Given the description of an element on the screen output the (x, y) to click on. 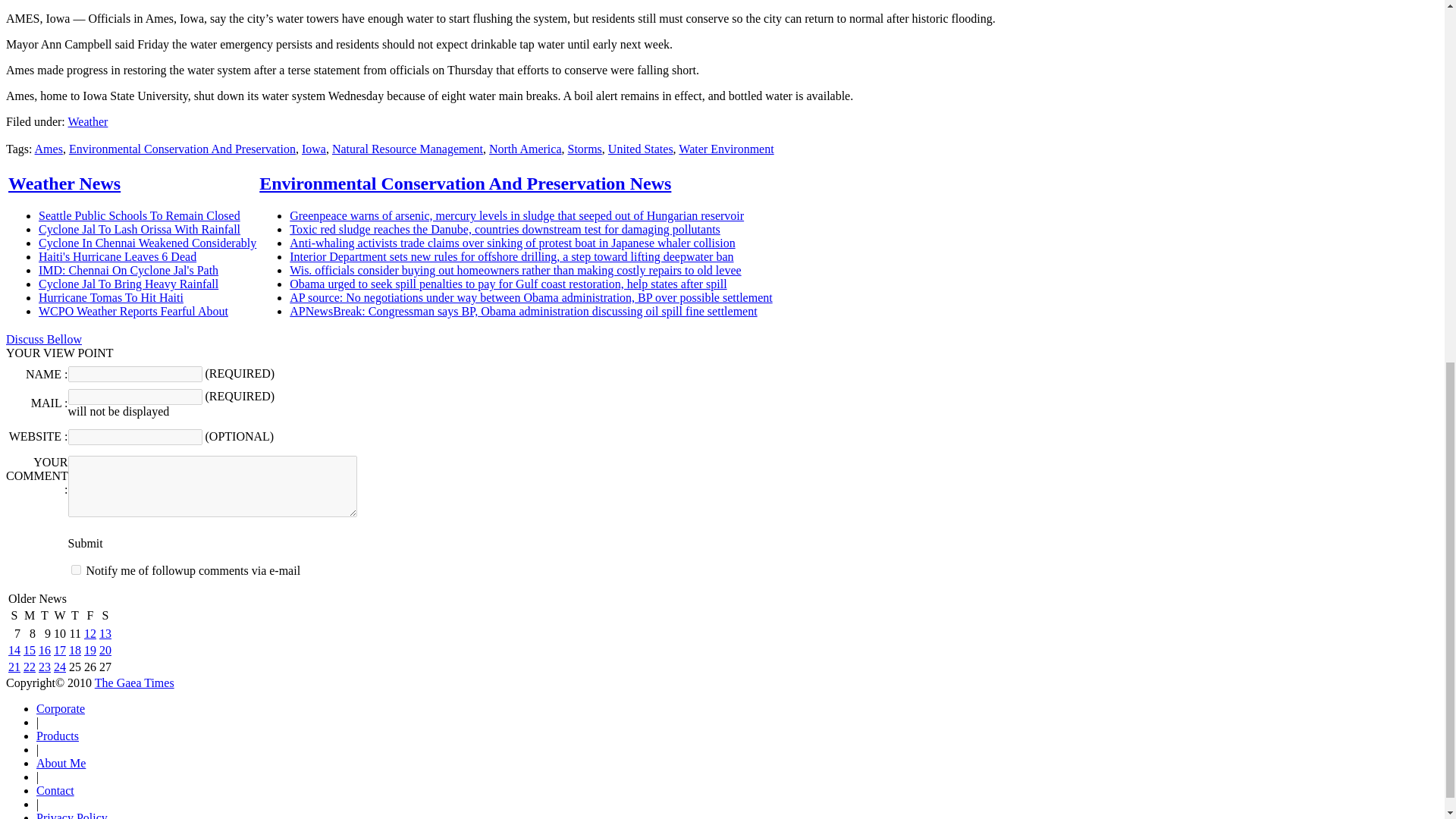
North America (525, 148)
United States (640, 148)
Natural Resource Management (407, 148)
Storms (584, 148)
subscribe (76, 569)
Weather (86, 121)
Ames (48, 148)
Environmental Conservation And Preservation (181, 148)
Iowa (313, 148)
